Given the description of an element on the screen output the (x, y) to click on. 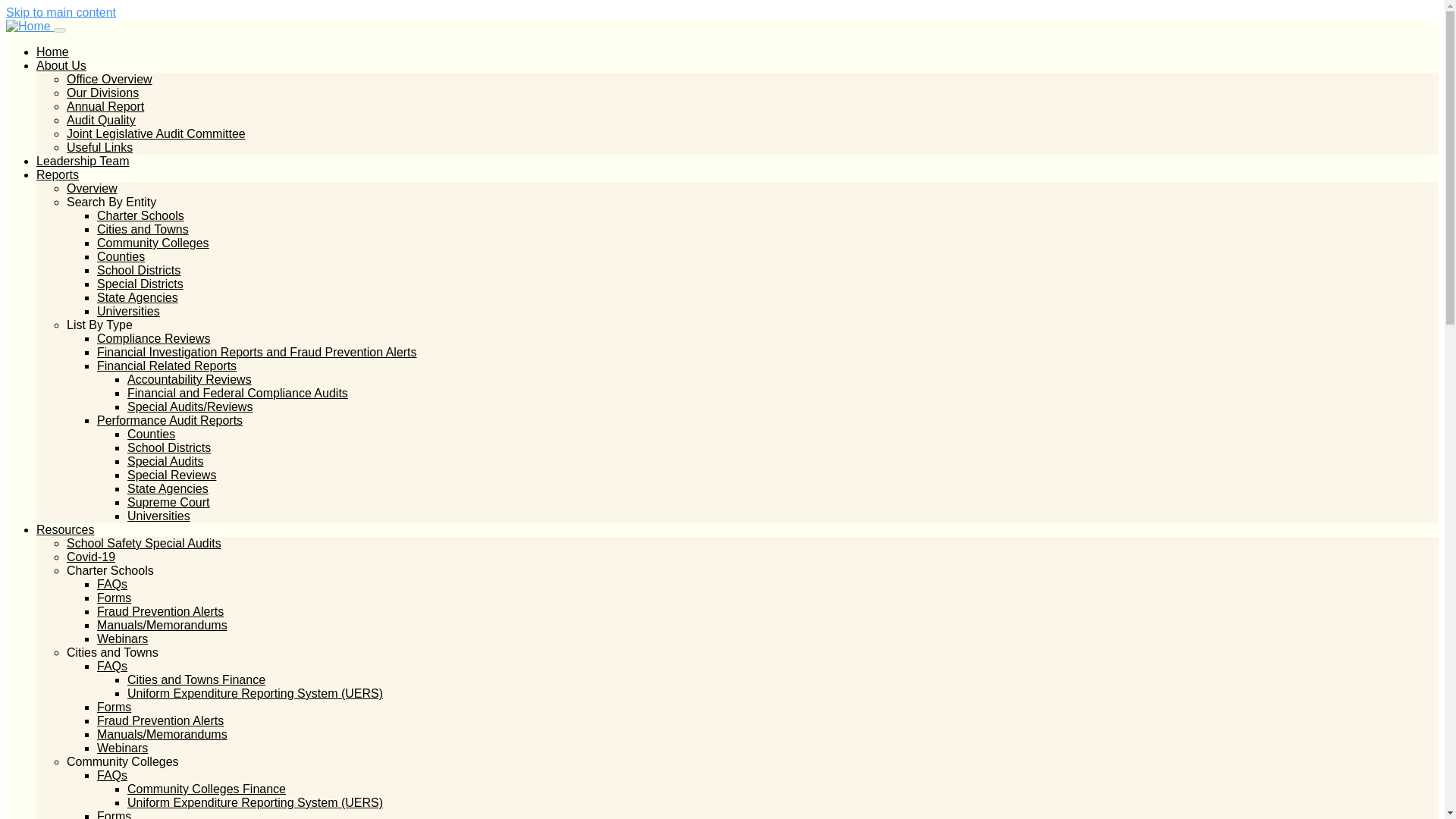
Financial Related Reports (166, 365)
FAQs (112, 584)
Counties (151, 433)
Counties (120, 256)
School Districts (138, 269)
Overview (91, 187)
State Agencies (137, 297)
Universities (159, 515)
Supreme Court (168, 502)
Reports (57, 174)
Special Reviews (171, 474)
Home (52, 51)
Leadership Team (82, 160)
School Safety Special Audits (143, 543)
Universities (128, 310)
